Given the description of an element on the screen output the (x, y) to click on. 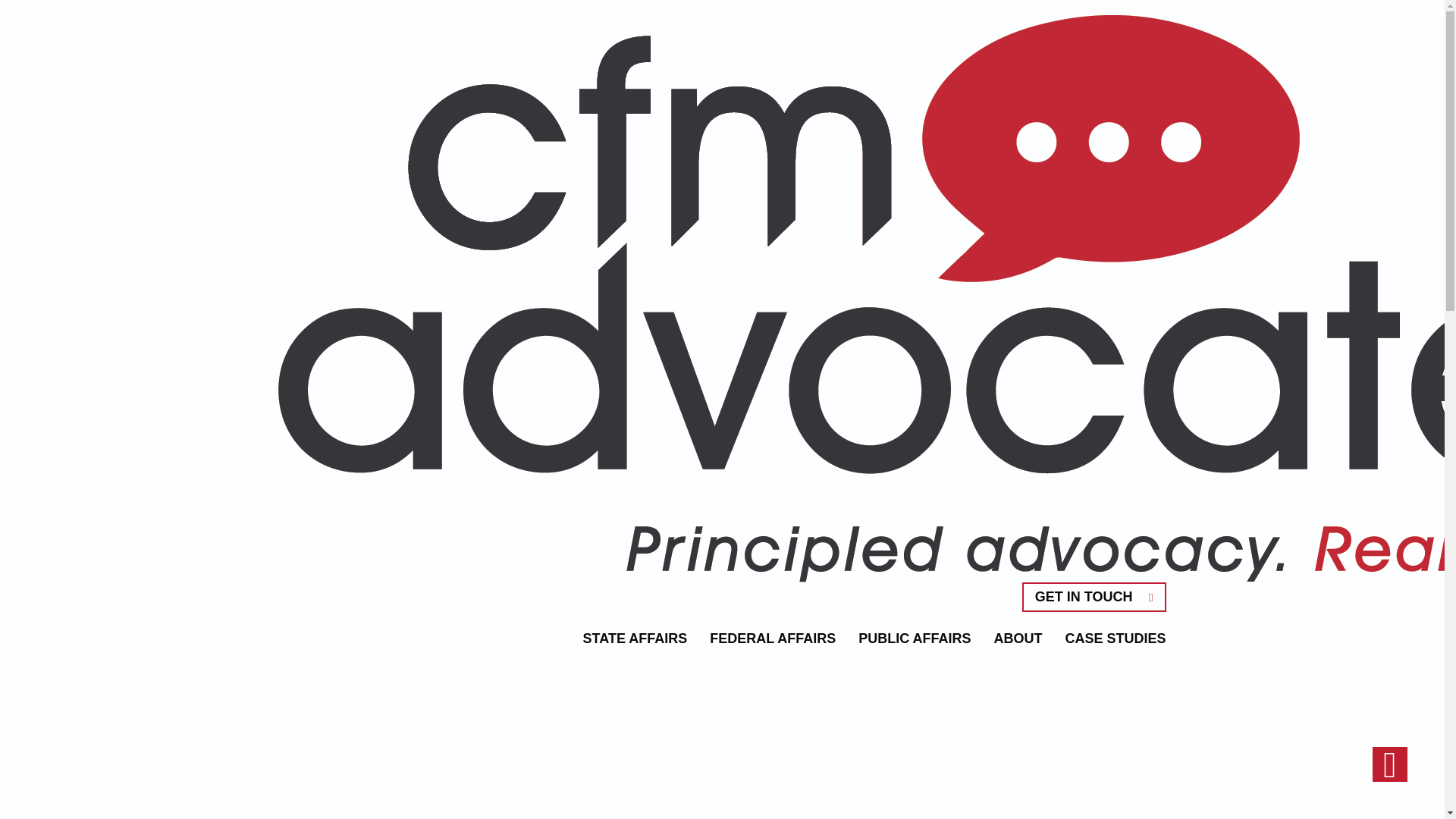
CASE STUDIES (1110, 638)
PUBLIC AFFAIRS (914, 638)
STATE AFFAIRS (635, 638)
ABOUT (1018, 638)
FEDERAL AFFAIRS (772, 638)
GET IN TOUCH (1094, 596)
